Given the description of an element on the screen output the (x, y) to click on. 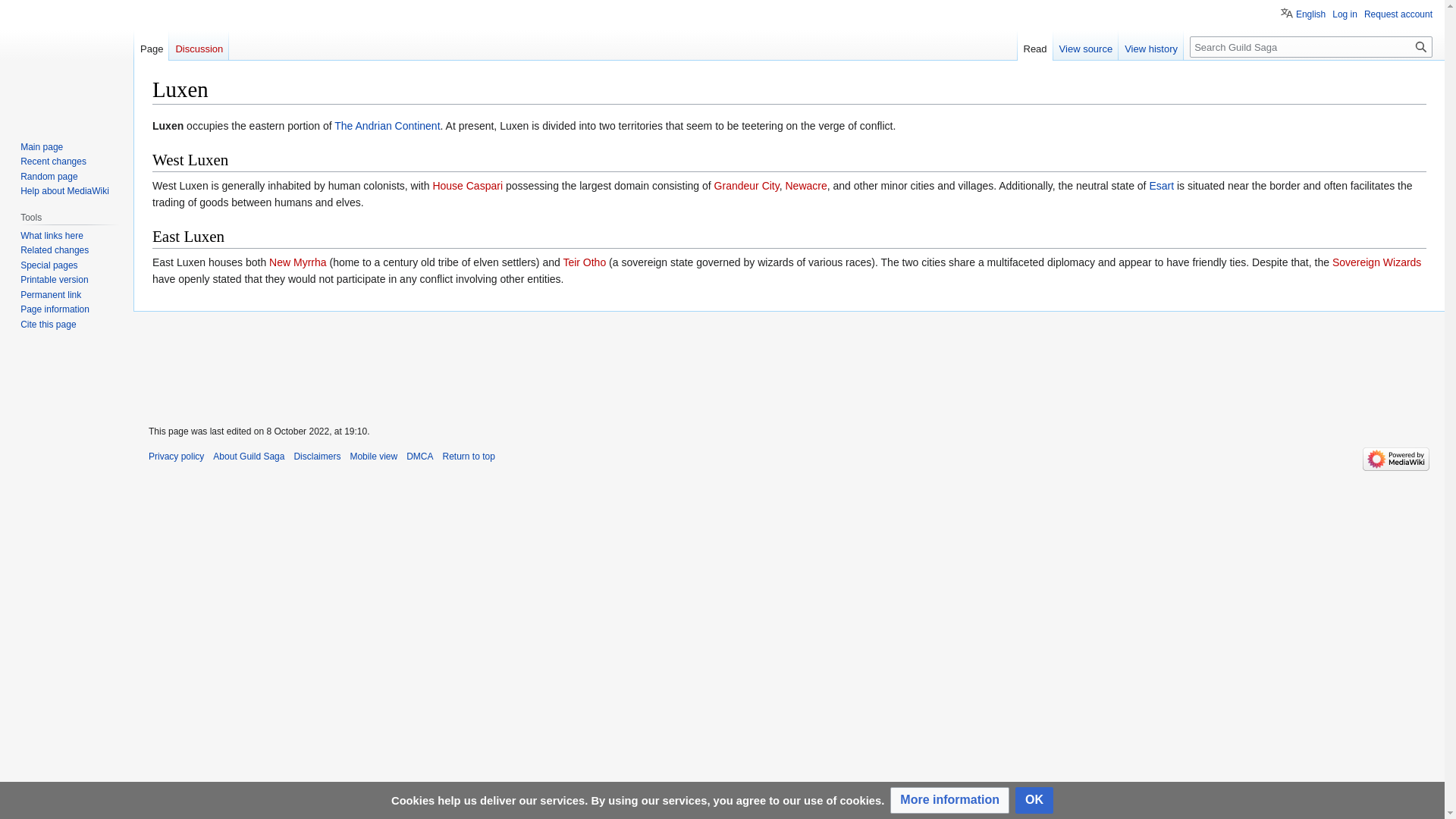
View source (1085, 45)
Permanent link (50, 294)
The Andrian Continent (386, 125)
Go (1420, 46)
Privacy policy (175, 456)
Request account (1398, 14)
Related changes (54, 249)
Special pages (48, 265)
Search the pages for this text (1420, 46)
